Given the description of an element on the screen output the (x, y) to click on. 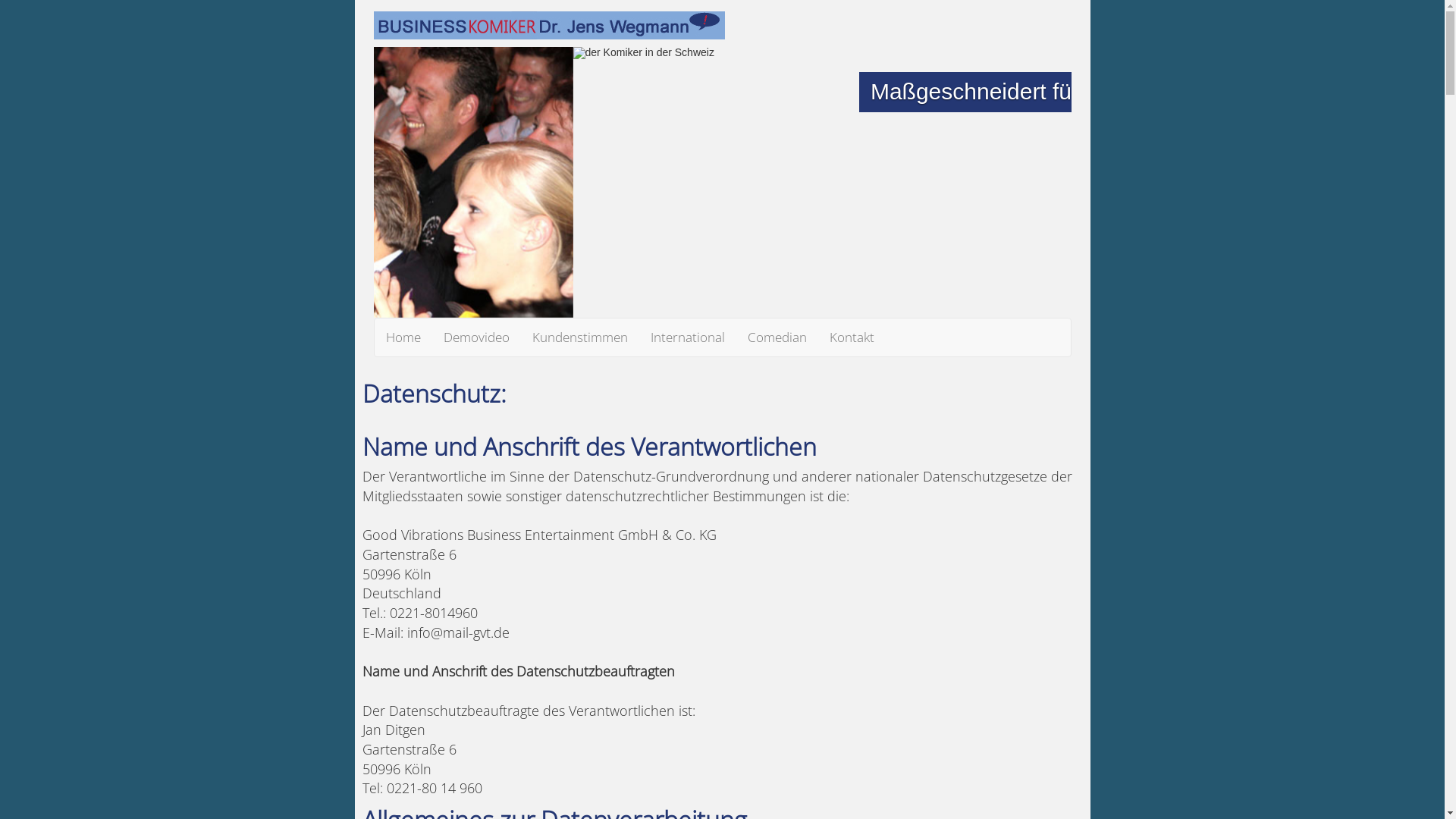
Kundenstimmen Element type: text (579, 337)
Kontakt Element type: text (850, 337)
International Element type: text (686, 337)
Comedian Element type: text (776, 337)
Demovideo Element type: text (476, 337)
Home Element type: text (403, 337)
